Given the description of an element on the screen output the (x, y) to click on. 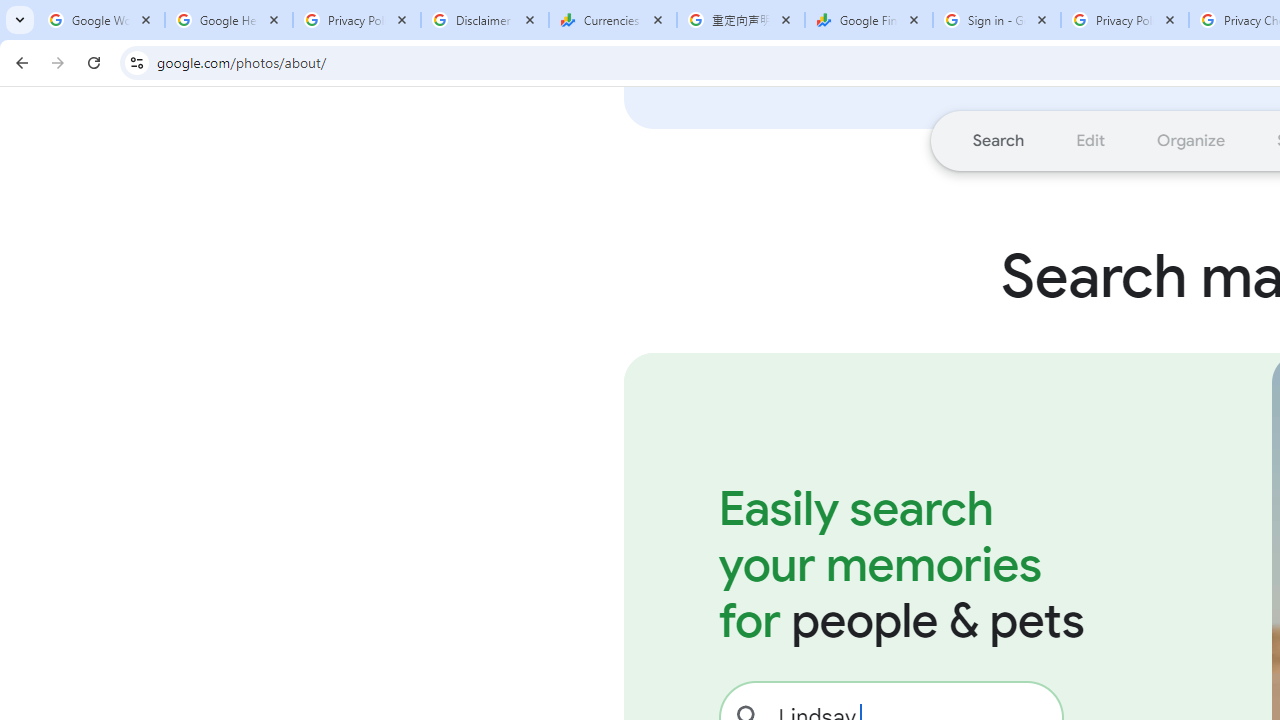
Google Workspace Admin Community (101, 20)
Go to section: Organize (1191, 140)
